Given the description of an element on the screen output the (x, y) to click on. 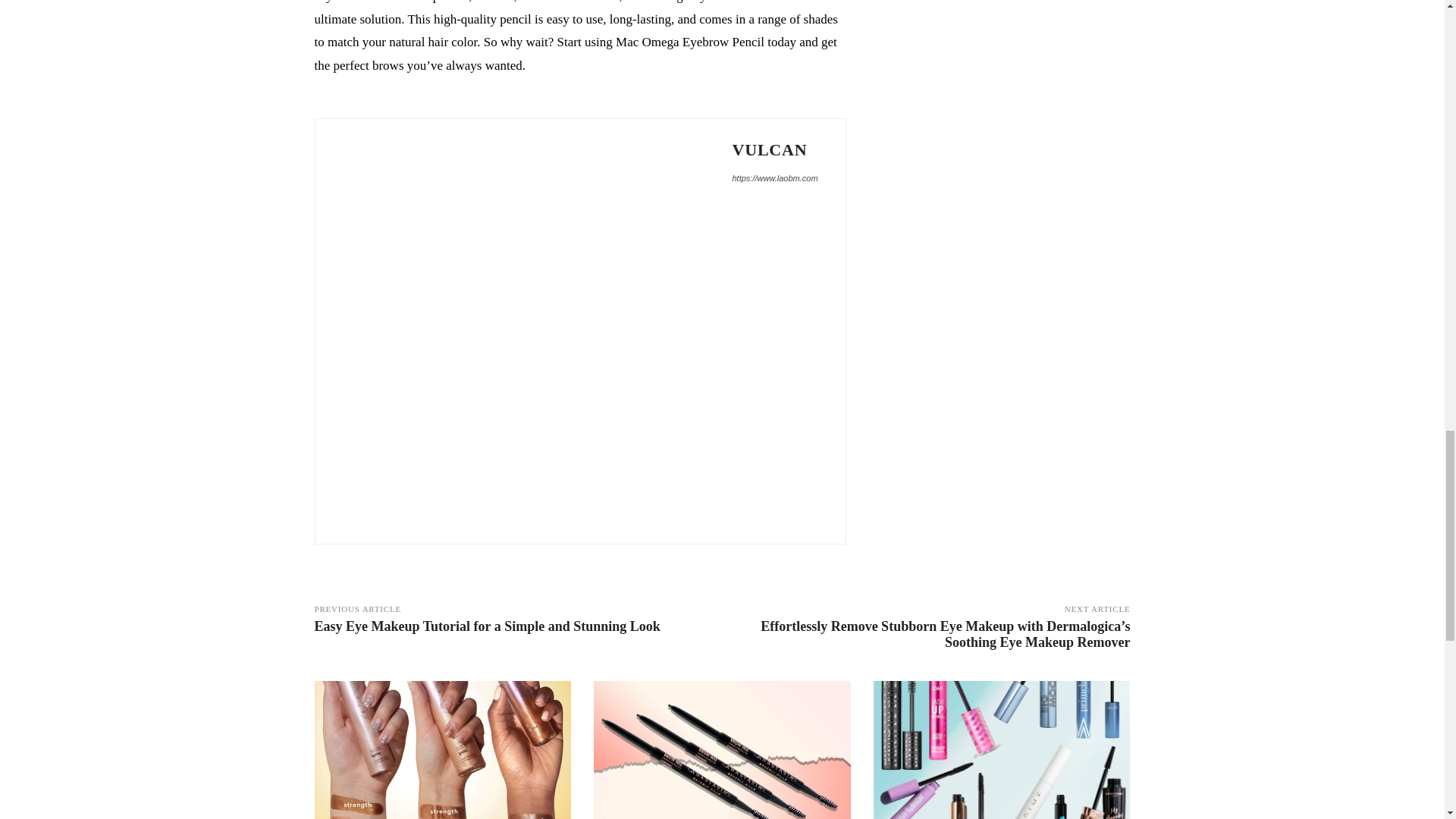
VULCAN (775, 149)
